Given the description of an element on the screen output the (x, y) to click on. 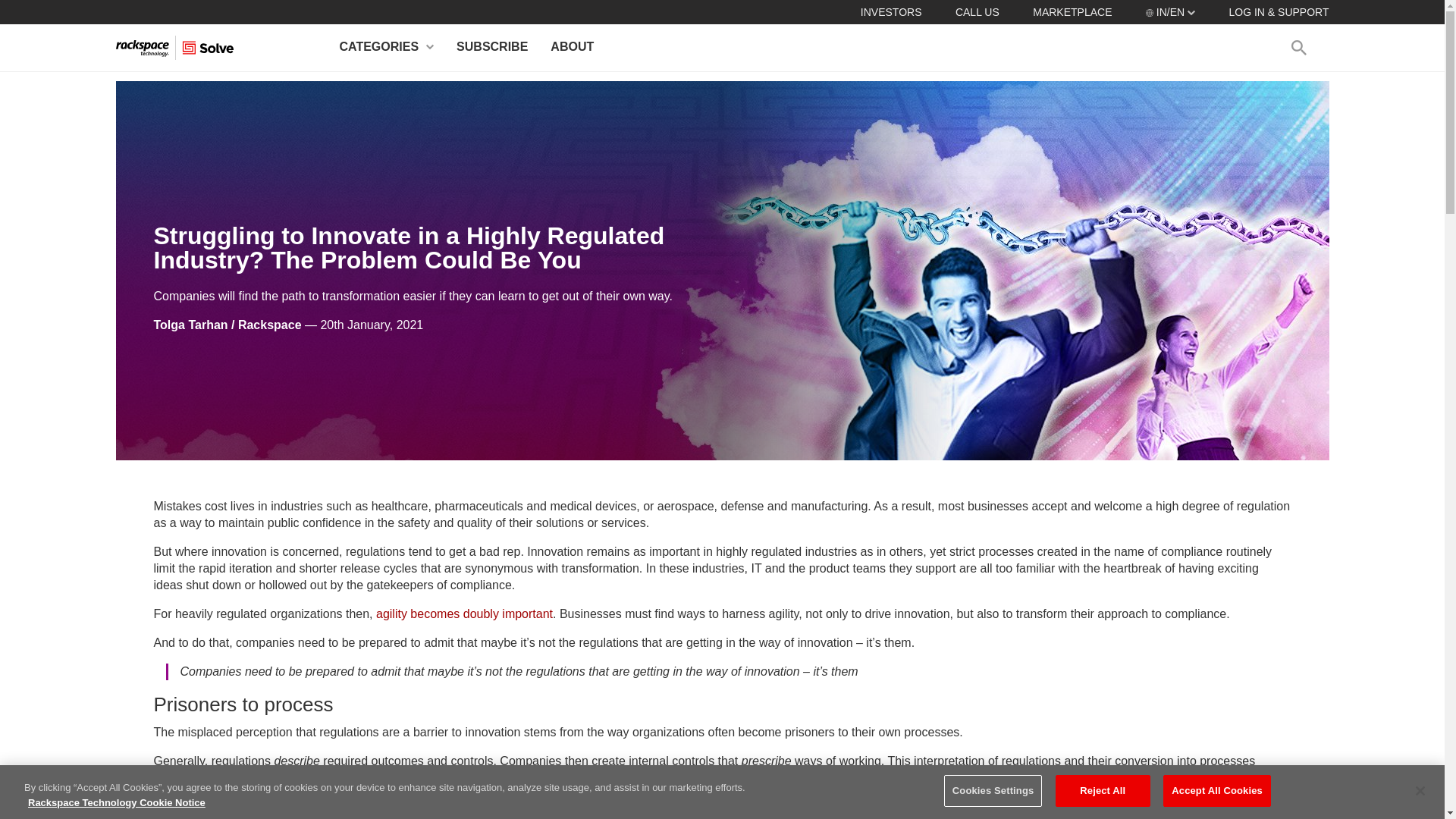
SUBSCRIBE (491, 47)
ABOUT (571, 47)
MARKETPLACE (1072, 11)
CATEGORIES (386, 47)
INVESTORS (890, 11)
CALL US (976, 11)
